Given the description of an element on the screen output the (x, y) to click on. 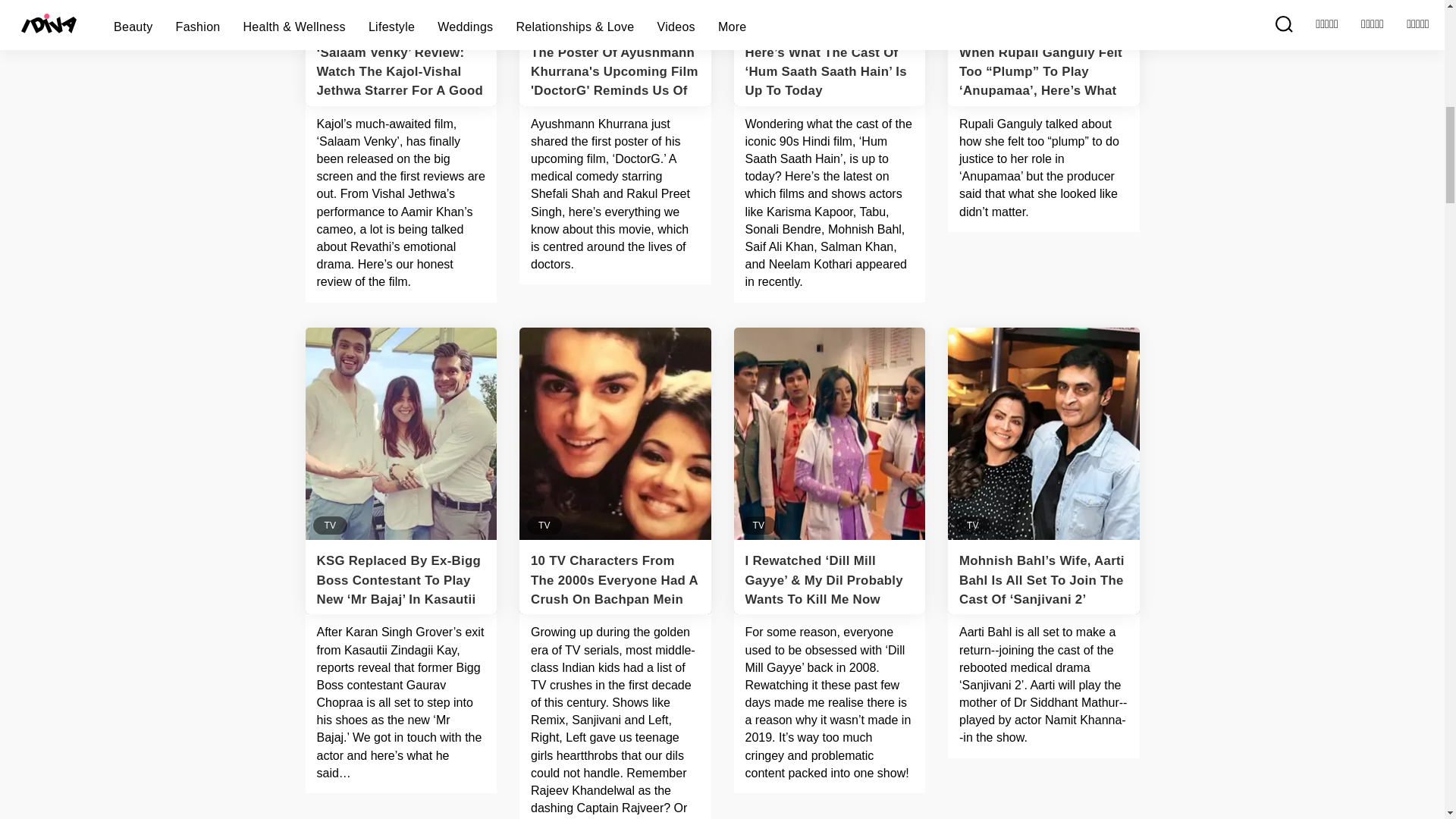
idiva (400, 53)
idiva (829, 53)
idiva (1043, 53)
idiva (615, 53)
